Given the description of an element on the screen output the (x, y) to click on. 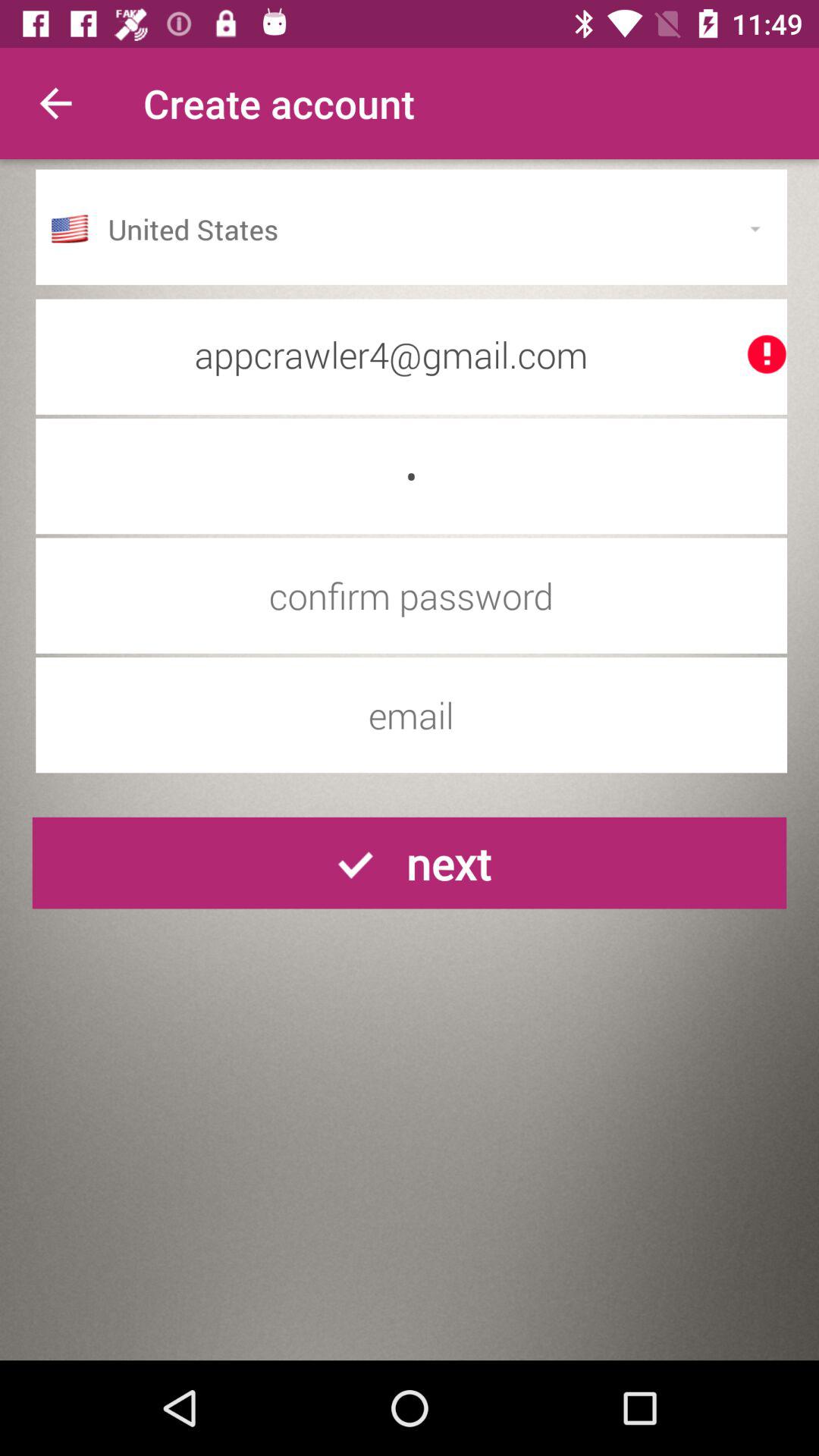
select the item below the united states item (411, 354)
